Given the description of an element on the screen output the (x, y) to click on. 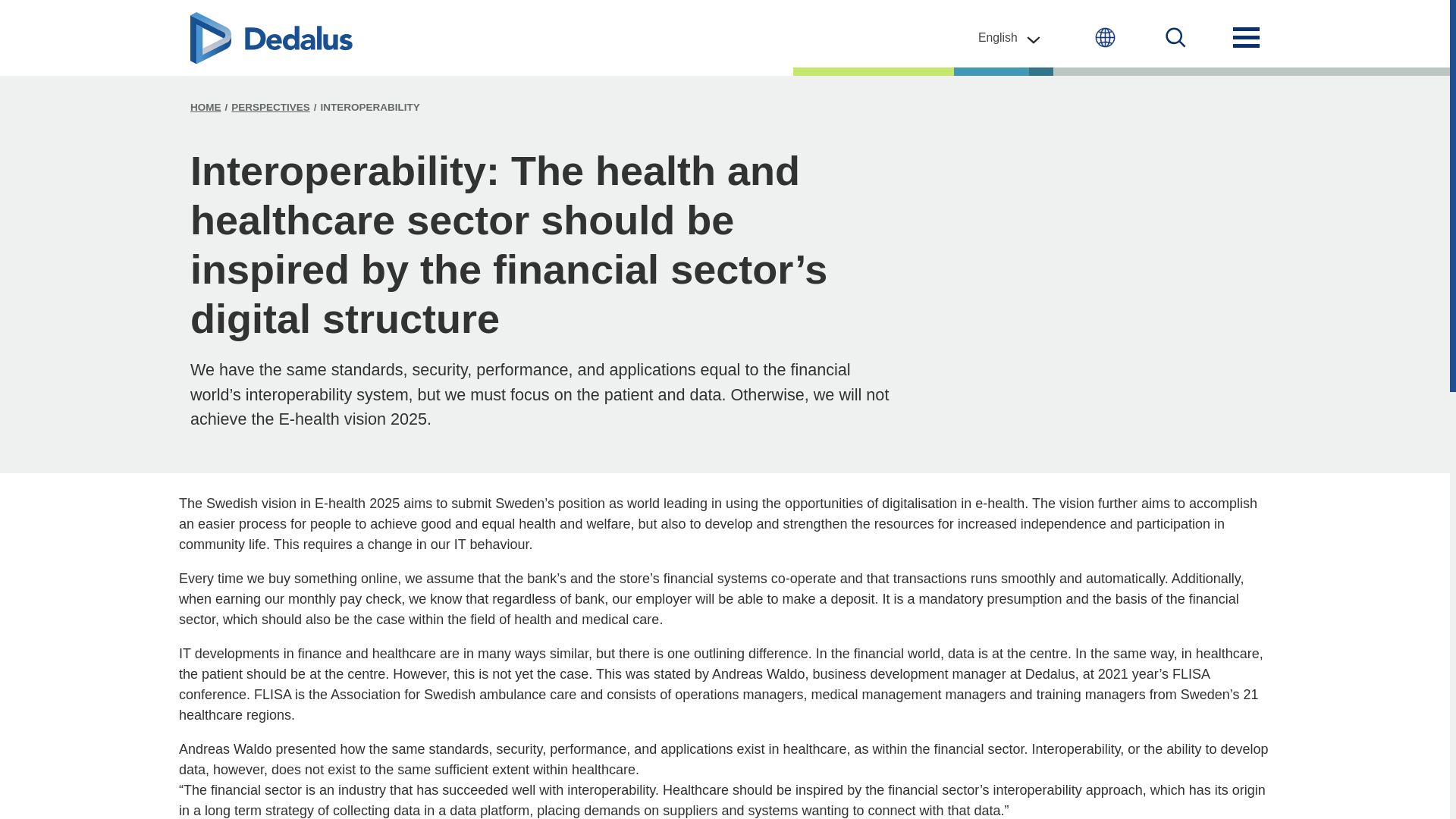
Dedalus (271, 37)
Search (976, 422)
English (1010, 37)
